Given the description of an element on the screen output the (x, y) to click on. 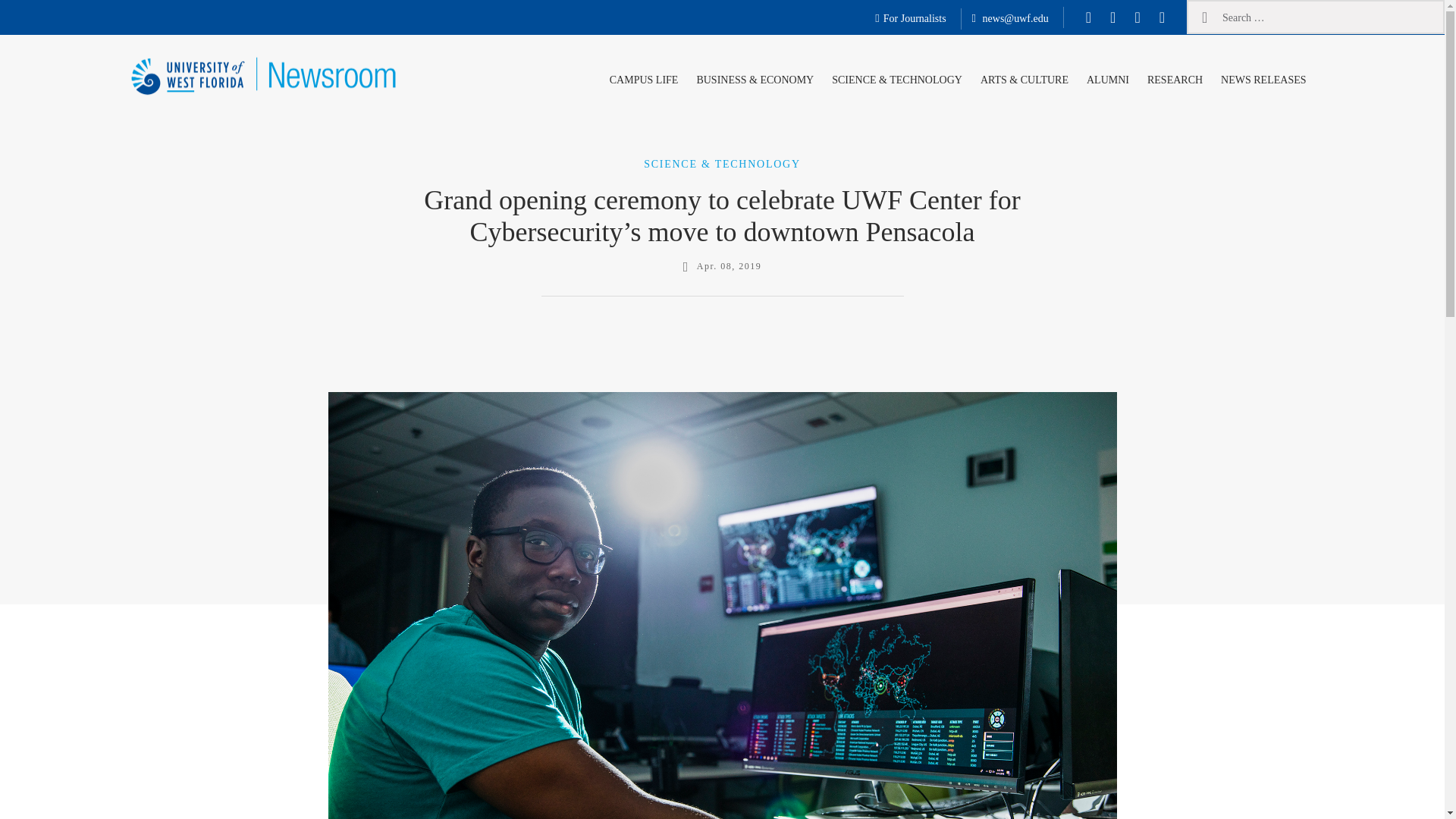
ALUMNI (1107, 77)
Contact us (1010, 19)
Connect with us on Linkedin (1161, 17)
CAMPUS LIFE (643, 77)
Follow us on X (1112, 17)
For Journalists (909, 19)
NEWS RELEASES (1262, 77)
Follow us on Instagram (1136, 17)
University of West Florida Newsroom (223, 124)
Find us on Facebook (1088, 17)
RESEARCH (1174, 77)
For Journalists (909, 19)
